Given the description of an element on the screen output the (x, y) to click on. 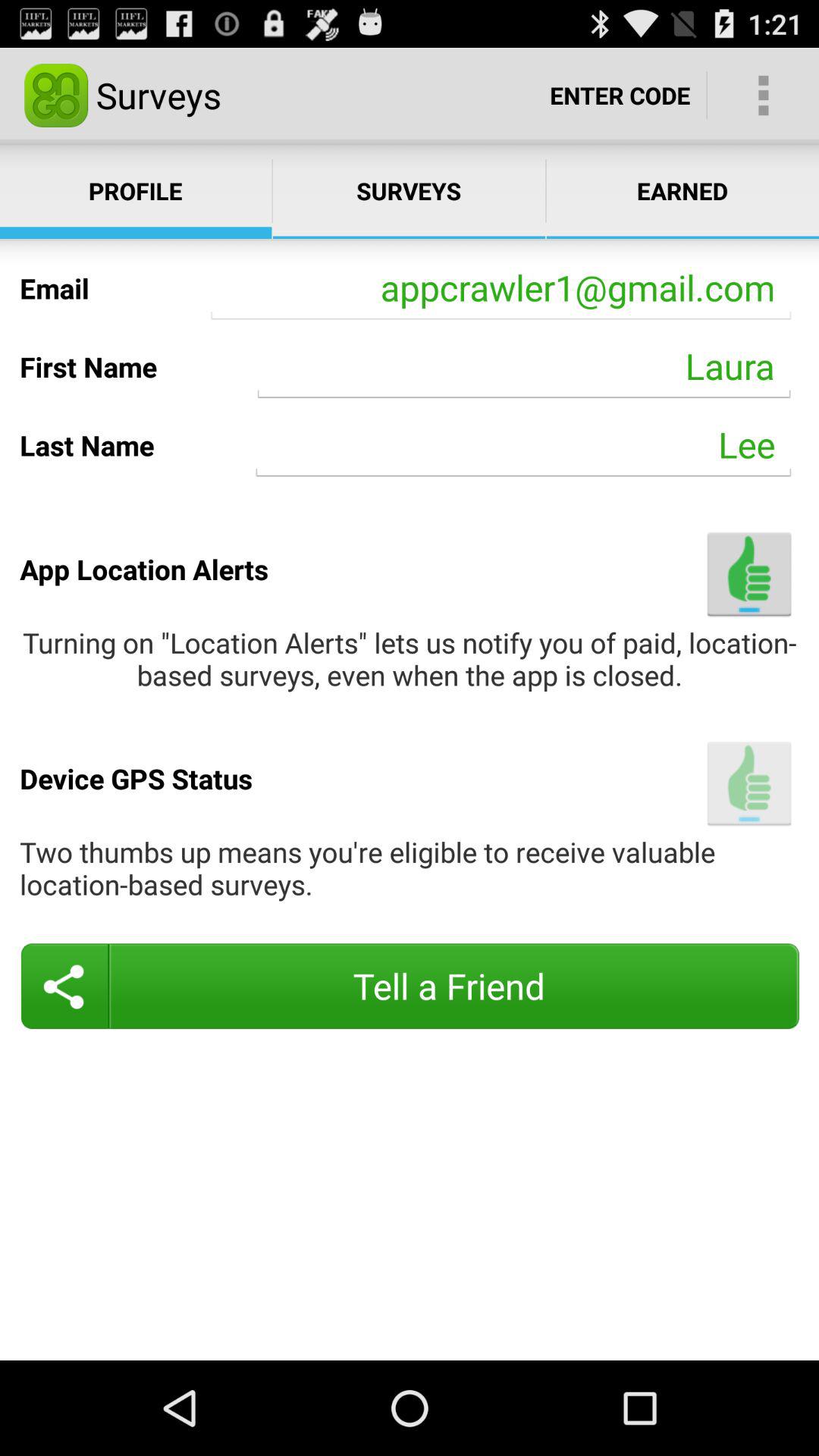
turn on the item next to the device gps status icon (749, 783)
